Given the description of an element on the screen output the (x, y) to click on. 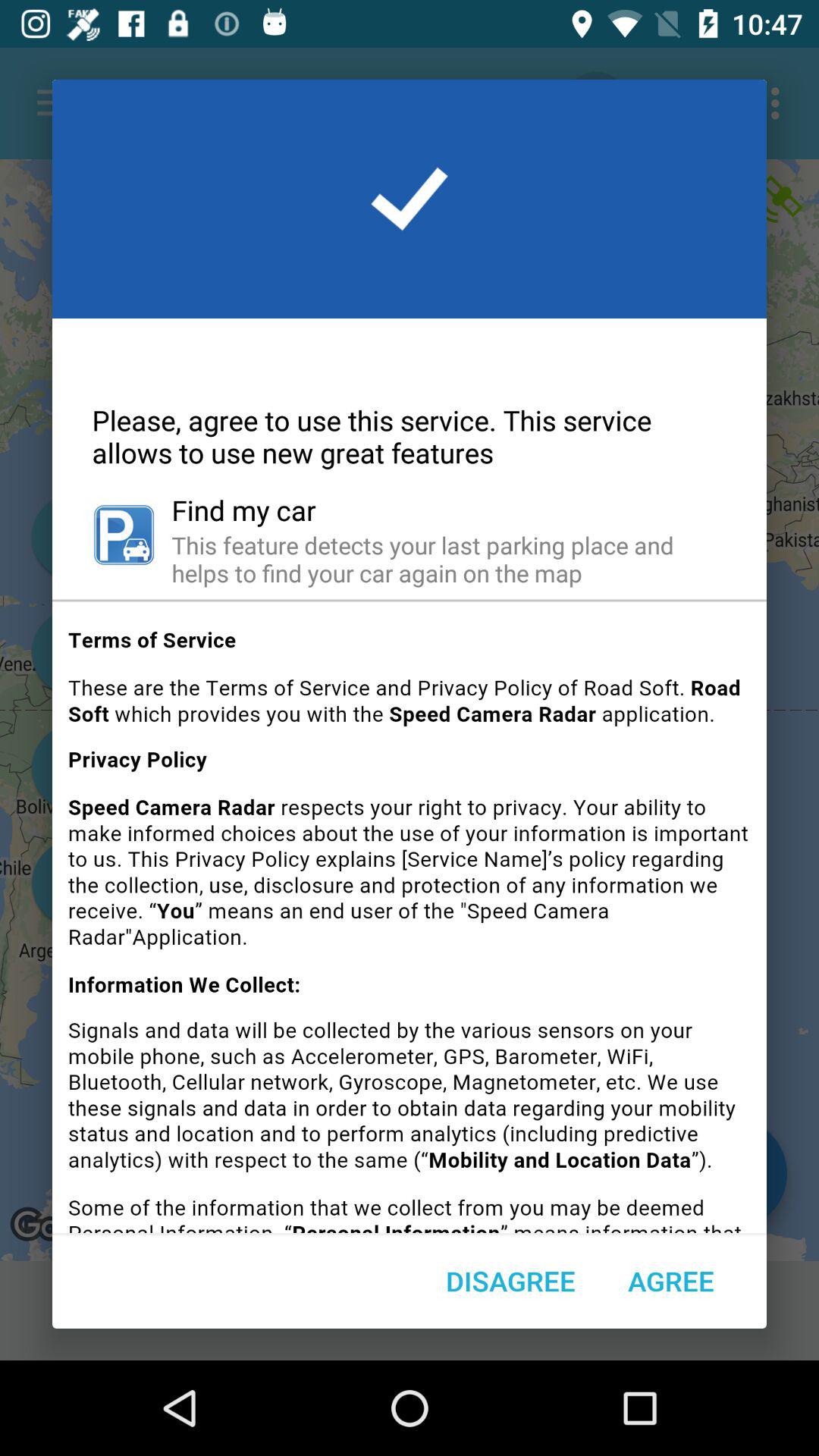
terms of service agreement (409, 922)
